Given the description of an element on the screen output the (x, y) to click on. 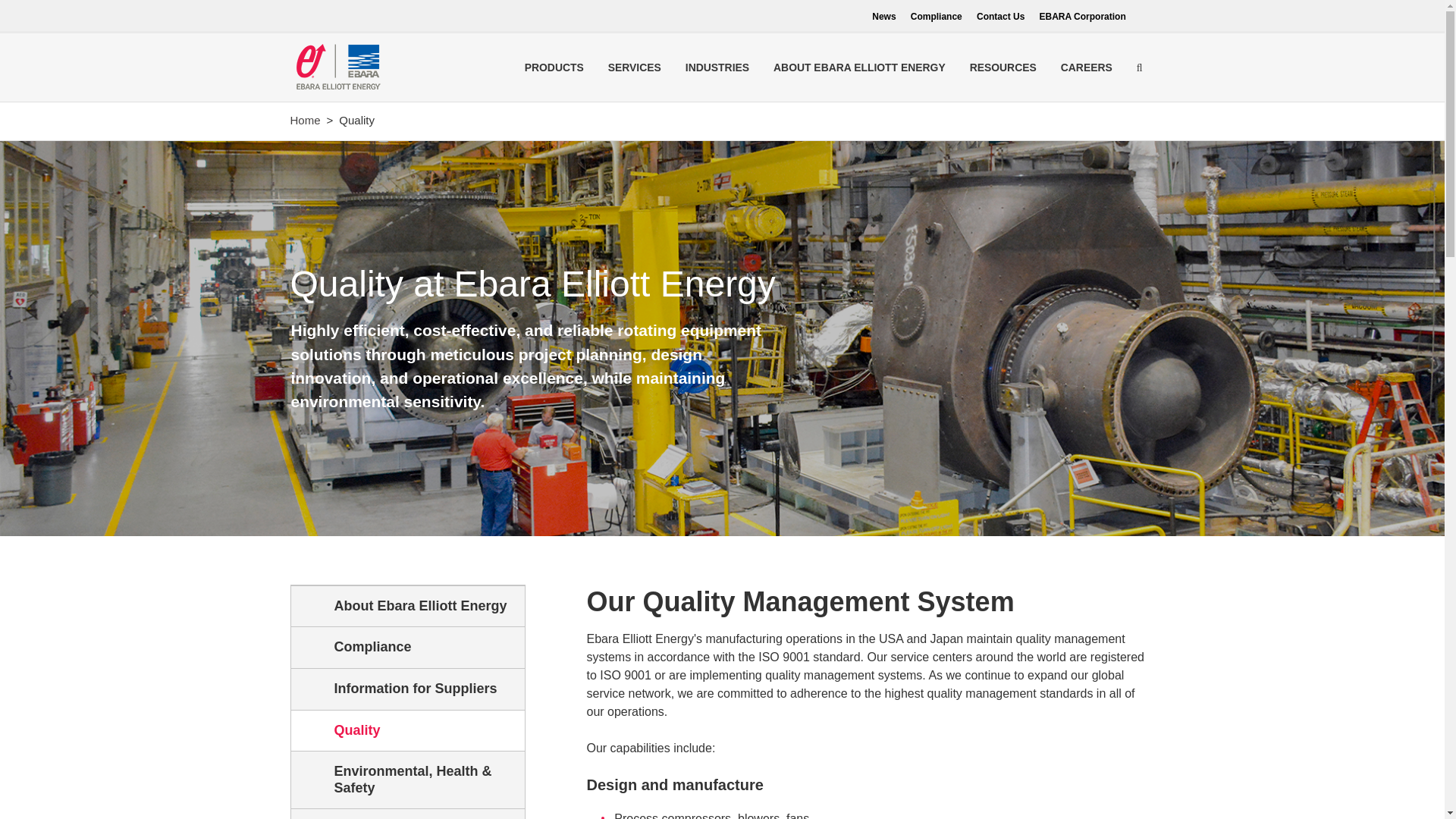
Information for Suppliers (408, 689)
ABOUT EBARA ELLIOTT ENERGY (859, 67)
History (408, 814)
About Ebara Elliott Energy (408, 606)
Compliance (408, 647)
SERVICES (633, 67)
CAREERS (1086, 67)
News (883, 16)
EBARA Corporation (1082, 16)
Ebara Elliott Energy Turbo (337, 66)
INDUSTRIES (716, 67)
PRODUCTS (553, 67)
Compliance (936, 16)
Quality (408, 730)
Home (304, 119)
